Given the description of an element on the screen output the (x, y) to click on. 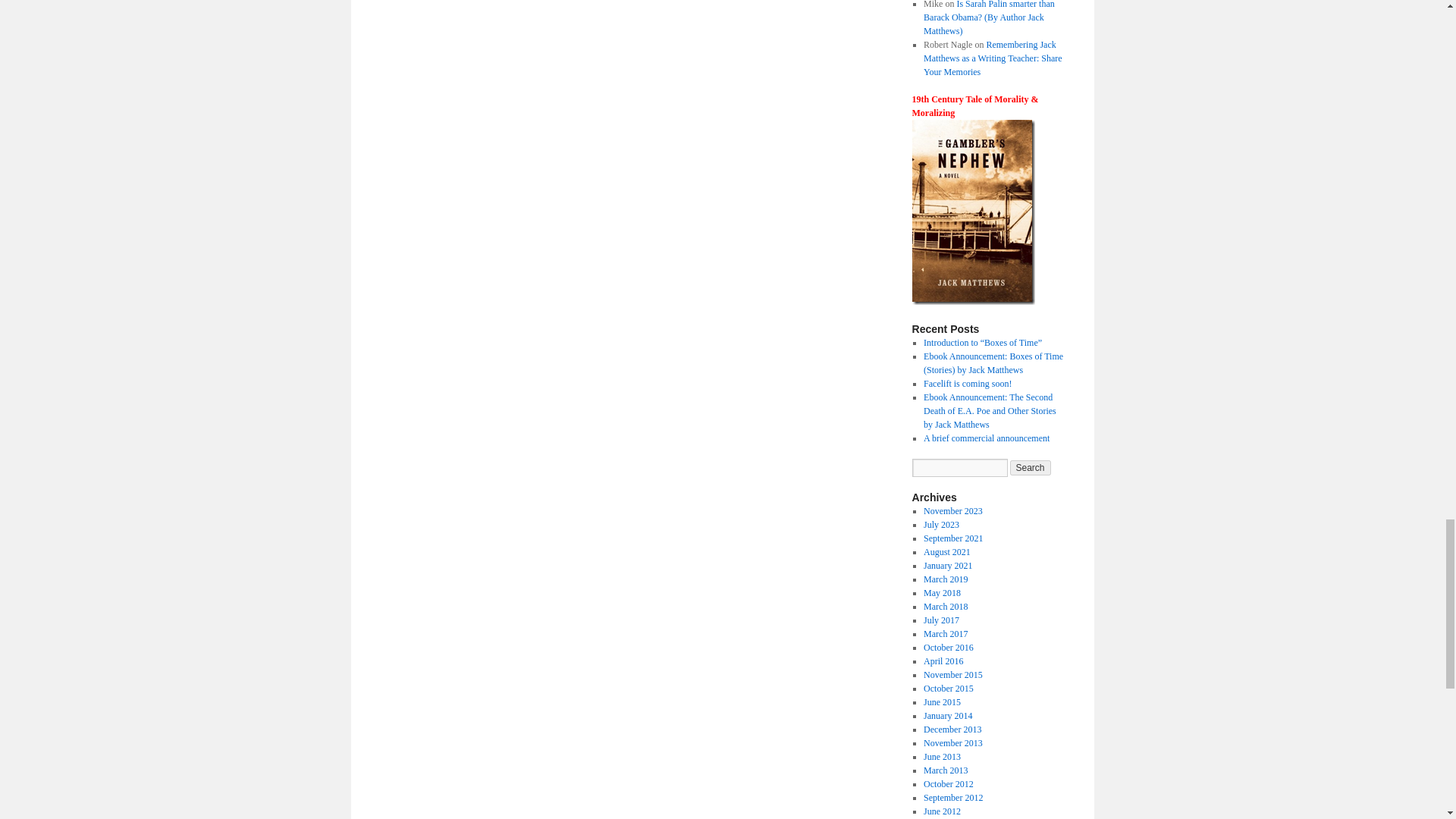
Search (1030, 467)
